Given the description of an element on the screen output the (x, y) to click on. 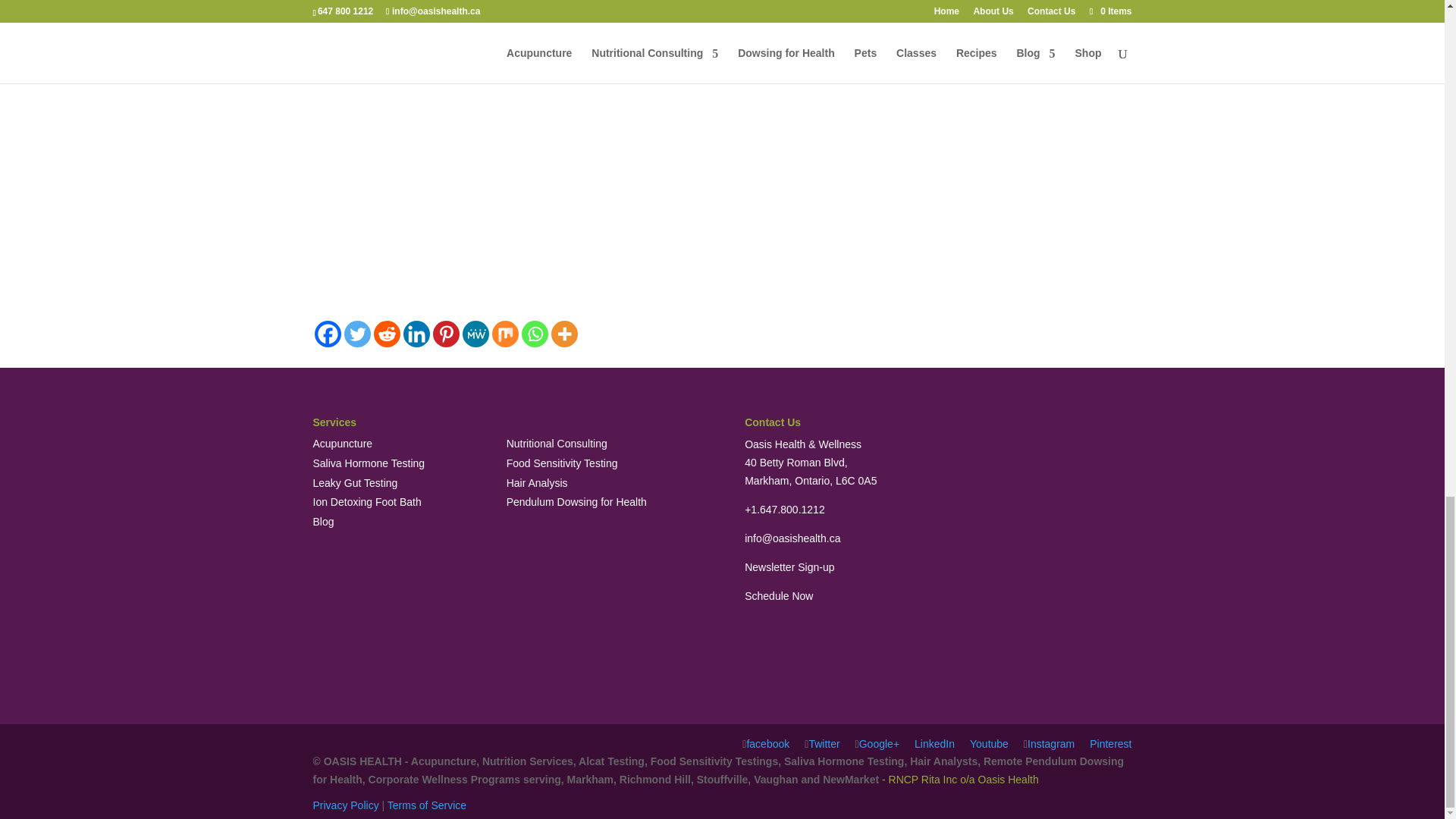
LinkedIn (934, 743)
Pinterest (445, 334)
Facebook (327, 334)
Whatsapp (534, 334)
facebook (765, 743)
More (563, 334)
Twitter (822, 743)
Mix (505, 334)
Reddit (385, 334)
Twitter (357, 334)
